Given the description of an element on the screen output the (x, y) to click on. 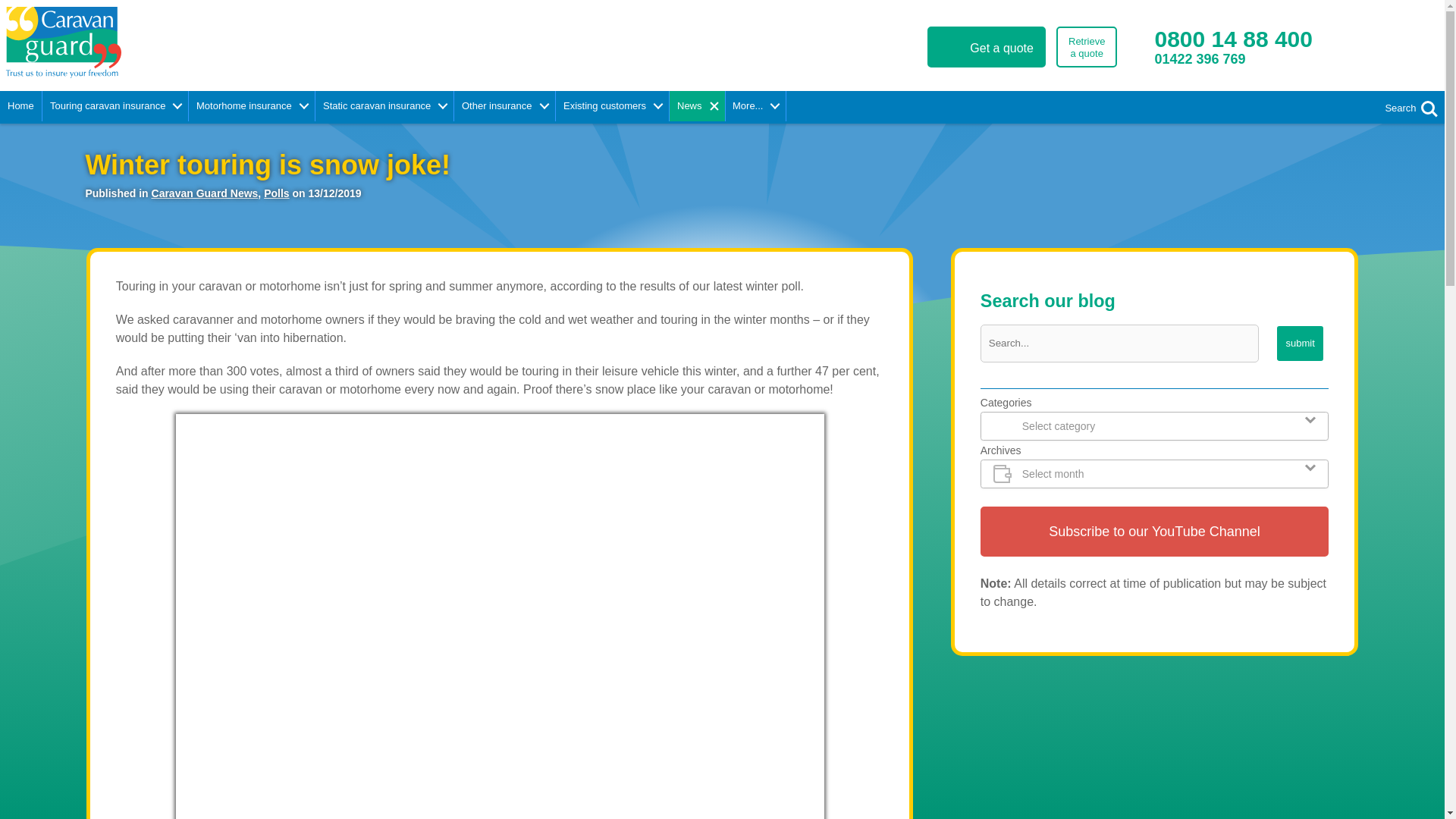
Caravan Guard (221, 42)
0800 14 88 400 (1233, 38)
01422 396 769 (1219, 66)
submit (1299, 343)
Home (21, 105)
Touring caravan insurance (1086, 46)
quote (115, 105)
